Given the description of an element on the screen output the (x, y) to click on. 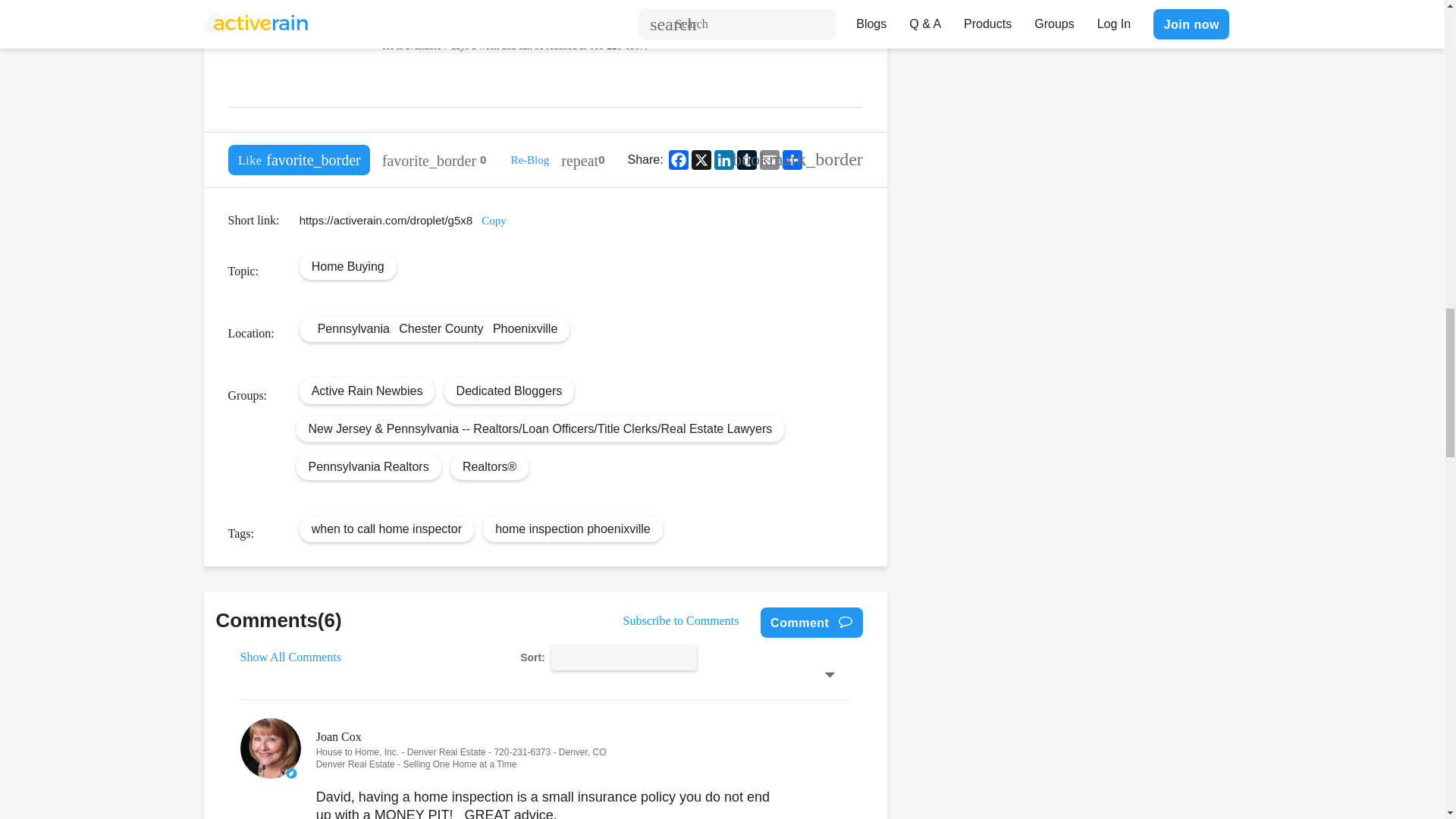
LinkedIn (724, 159)
repeat 0 (582, 159)
This entry hasn't been re-blogged (582, 159)
Facebook (678, 159)
Re-Blog (529, 159)
home inspector pottstown (320, 35)
Email (769, 159)
Tumblr (746, 159)
X (701, 159)
